Given the description of an element on the screen output the (x, y) to click on. 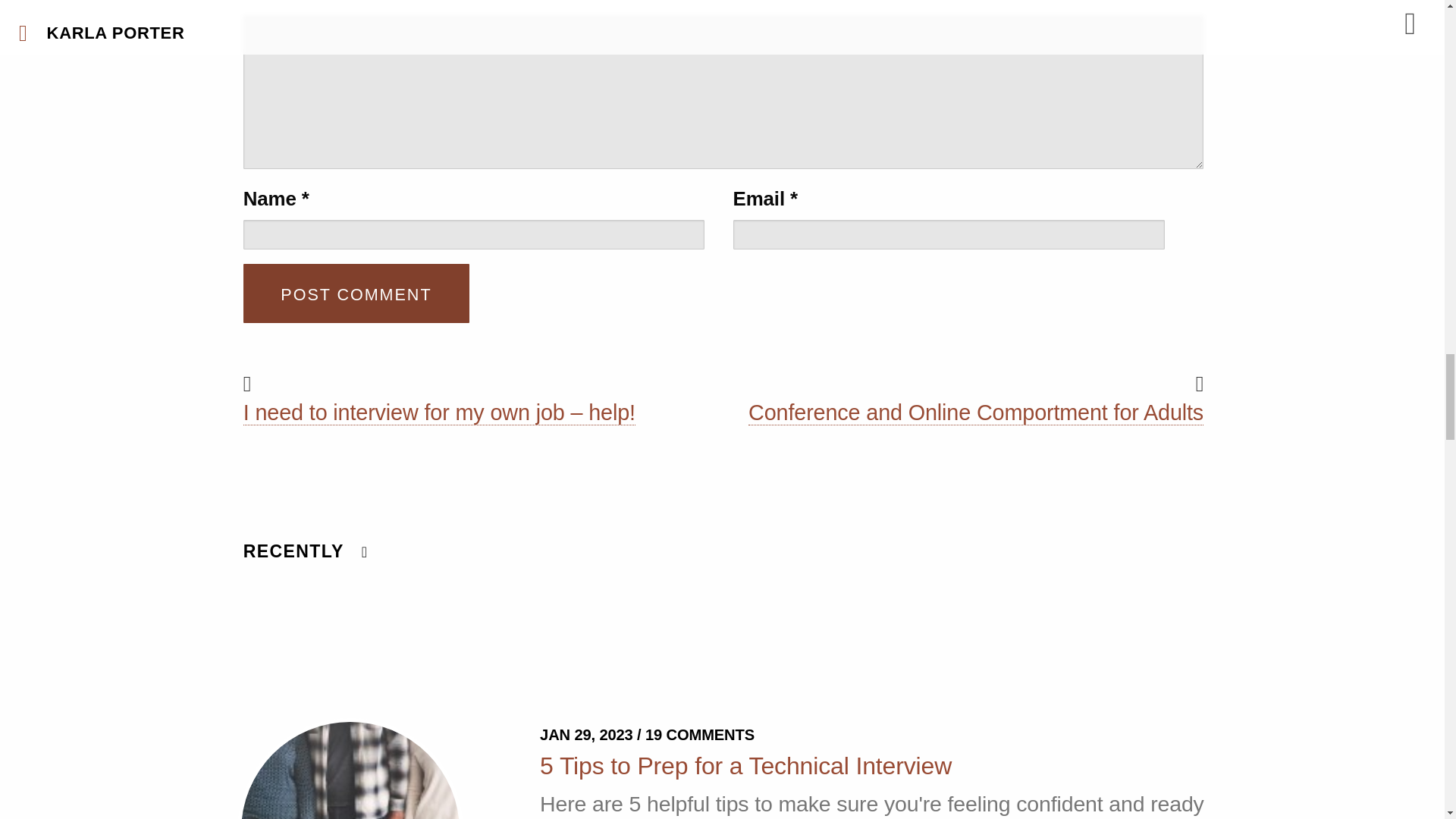
Post Comment (355, 292)
Post Comment (355, 292)
Conference and Online Comportment for Adults (976, 412)
